Given the description of an element on the screen output the (x, y) to click on. 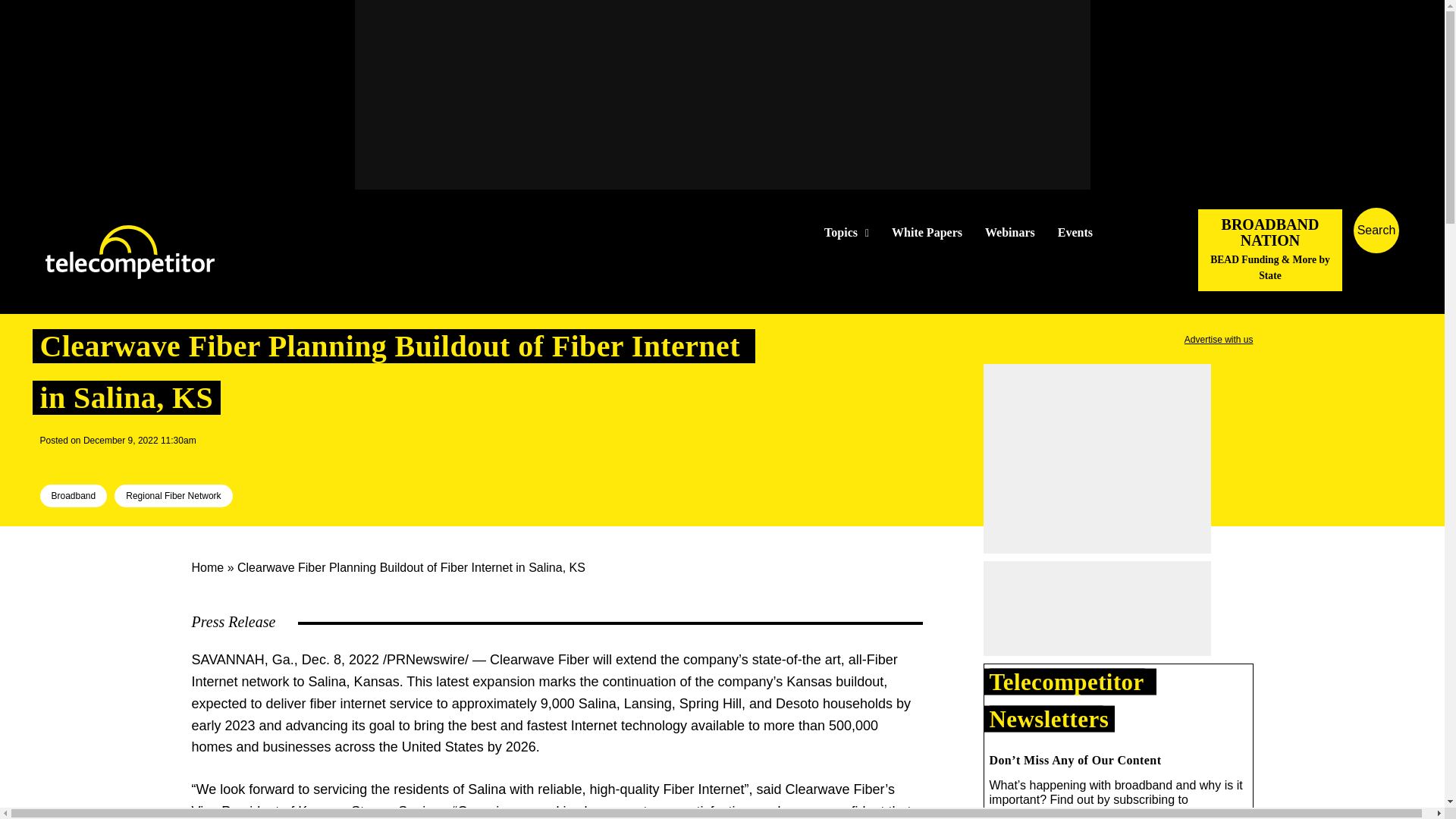
White Papers (927, 232)
Topics (846, 232)
Follow Us on Twitter (1127, 232)
Pinterest (124, 460)
Webinars (1010, 232)
Events (1074, 232)
Share on Facebook (51, 460)
Search telecompetitor.com (1376, 230)
Follow Us on LinkedIN (1151, 232)
Share on Linked In (99, 460)
Search (1430, 253)
Spread the word on Twitter (75, 460)
